Given the description of an element on the screen output the (x, y) to click on. 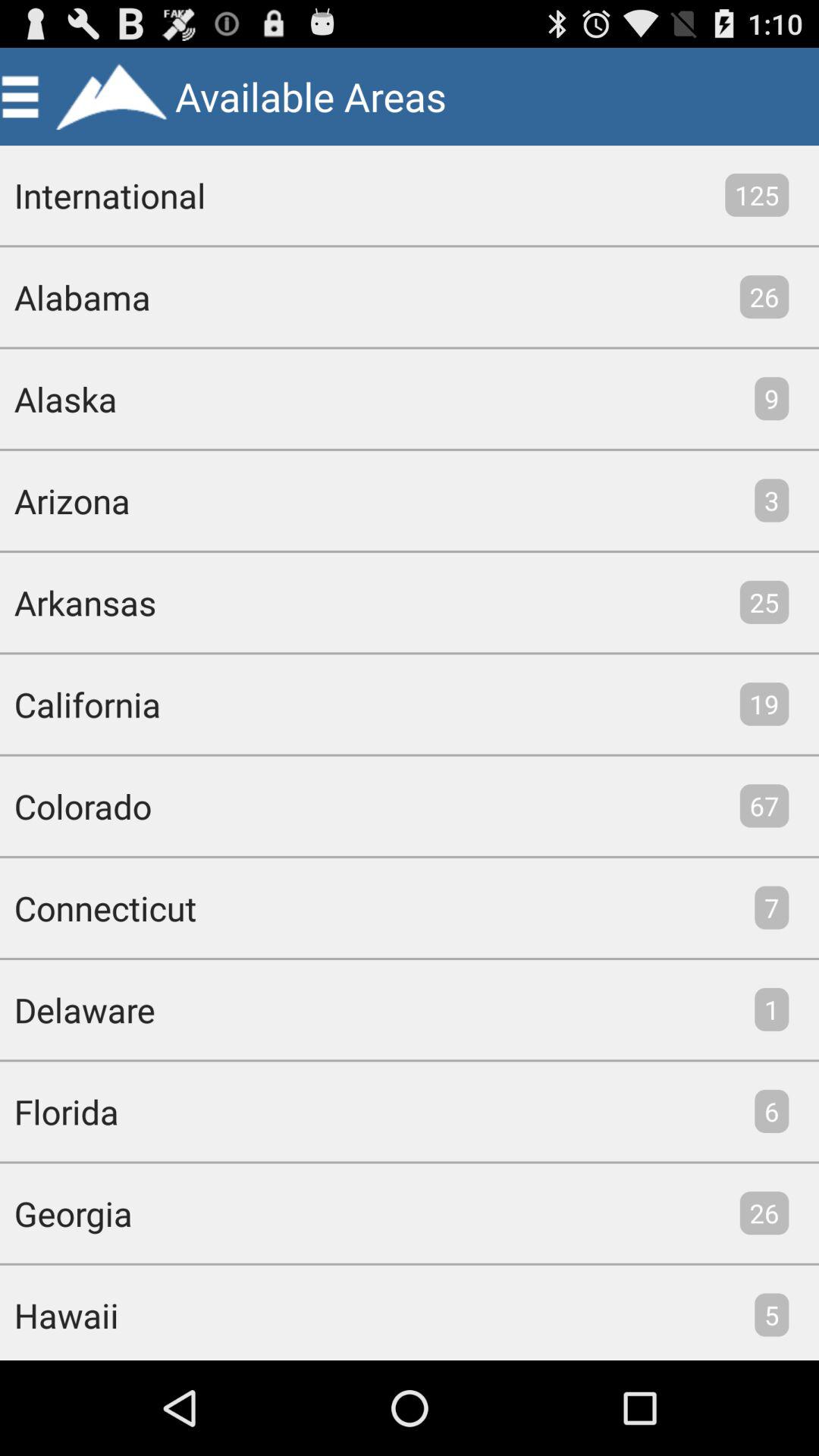
open the hawaii icon (59, 1312)
